Given the description of an element on the screen output the (x, y) to click on. 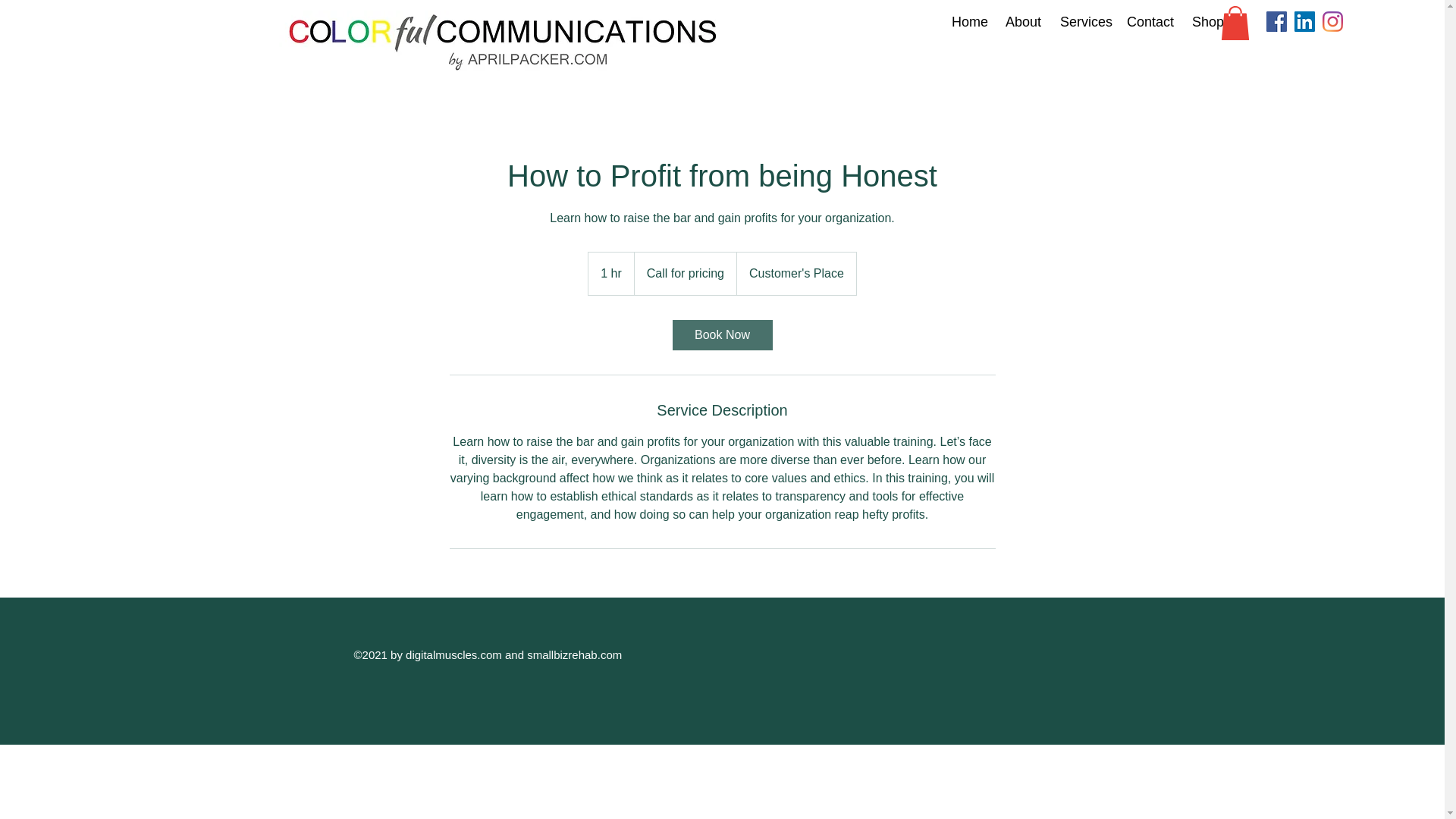
About (1020, 21)
Services (1081, 21)
Book Now (721, 335)
Contact (1147, 21)
Shop (1204, 21)
Home (965, 21)
